Given the description of an element on the screen output the (x, y) to click on. 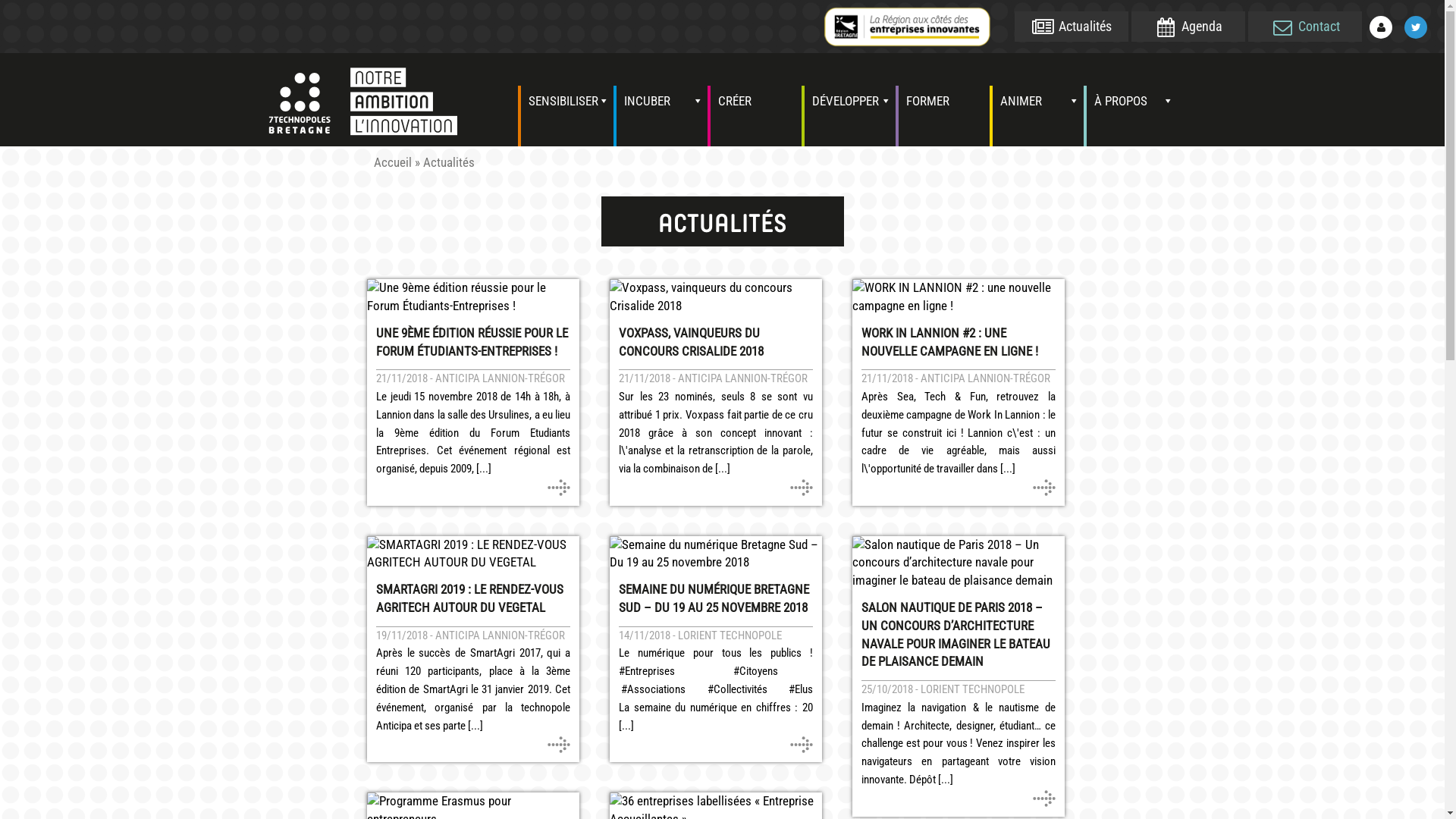
FORMER Element type: text (942, 115)
INCUBER Element type: text (660, 115)
SMARTAGRI 2019 : LE RENDEZ-VOUS AGRITECH AUTOUR DU VEGETAL Element type: text (473, 598)
Contact Element type: text (1304, 26)
SENSIBILISER Element type: text (566, 115)
ANIMER Element type: text (1036, 115)
Accueil Element type: text (392, 161)
Agenda Element type: text (1187, 26)
Connexion Element type: hover (1380, 26)
VOXPASS, VAINQUEURS DU CONCOURS CRISALIDE 2018 Element type: text (715, 342)
WORK IN LANNION #2 : UNE NOUVELLE CAMPAGNE EN LIGNE ! Element type: text (958, 342)
